Given the description of an element on the screen output the (x, y) to click on. 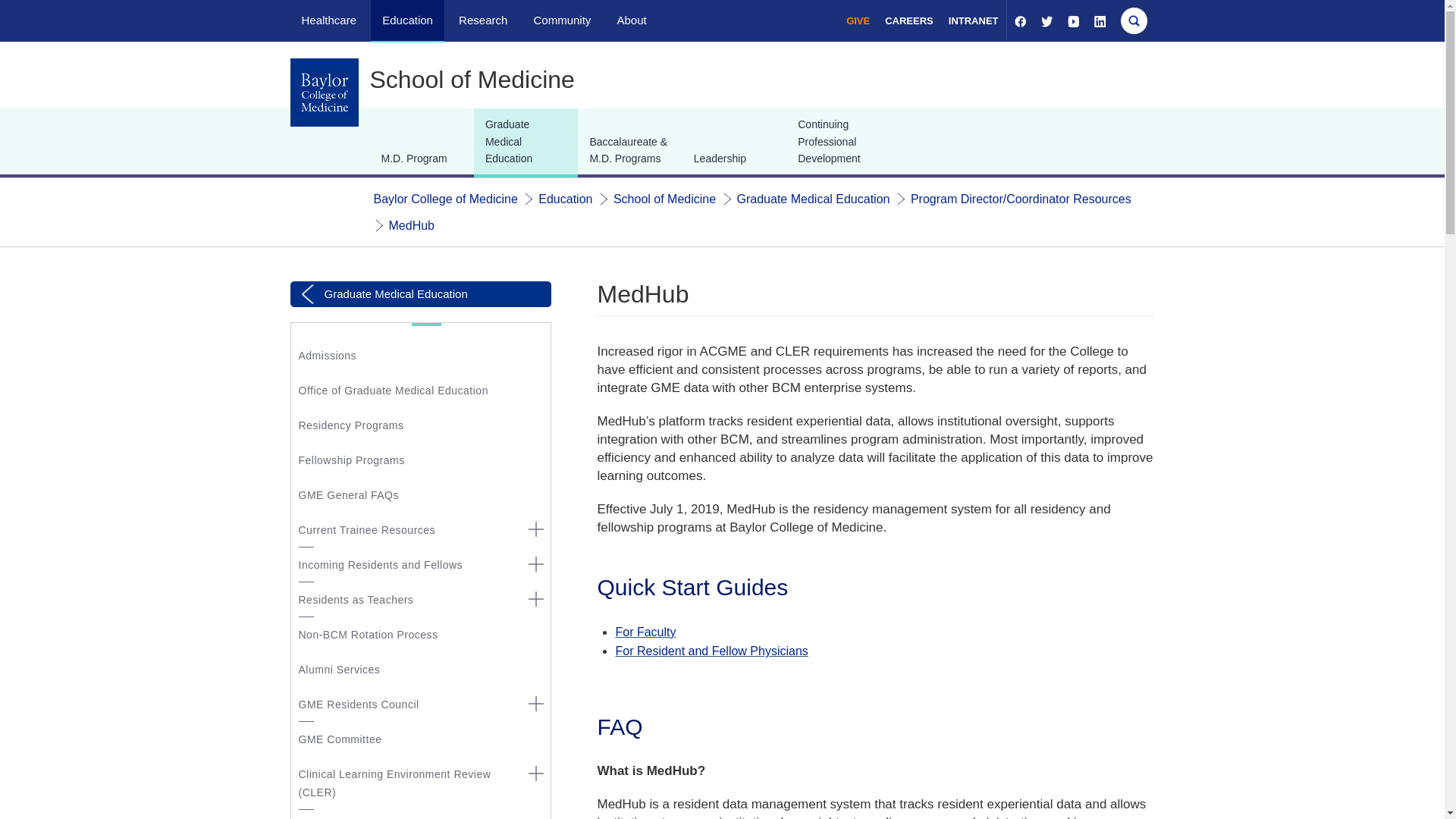
School of Medicine (664, 198)
Education (406, 19)
For Resident and Fellow Physicians (711, 650)
Education (565, 198)
MedHub (410, 225)
Healthcare (328, 19)
For Faculty (644, 631)
Graduate Medical Education (812, 198)
Baylor College of Medicine (444, 198)
